Given the description of an element on the screen output the (x, y) to click on. 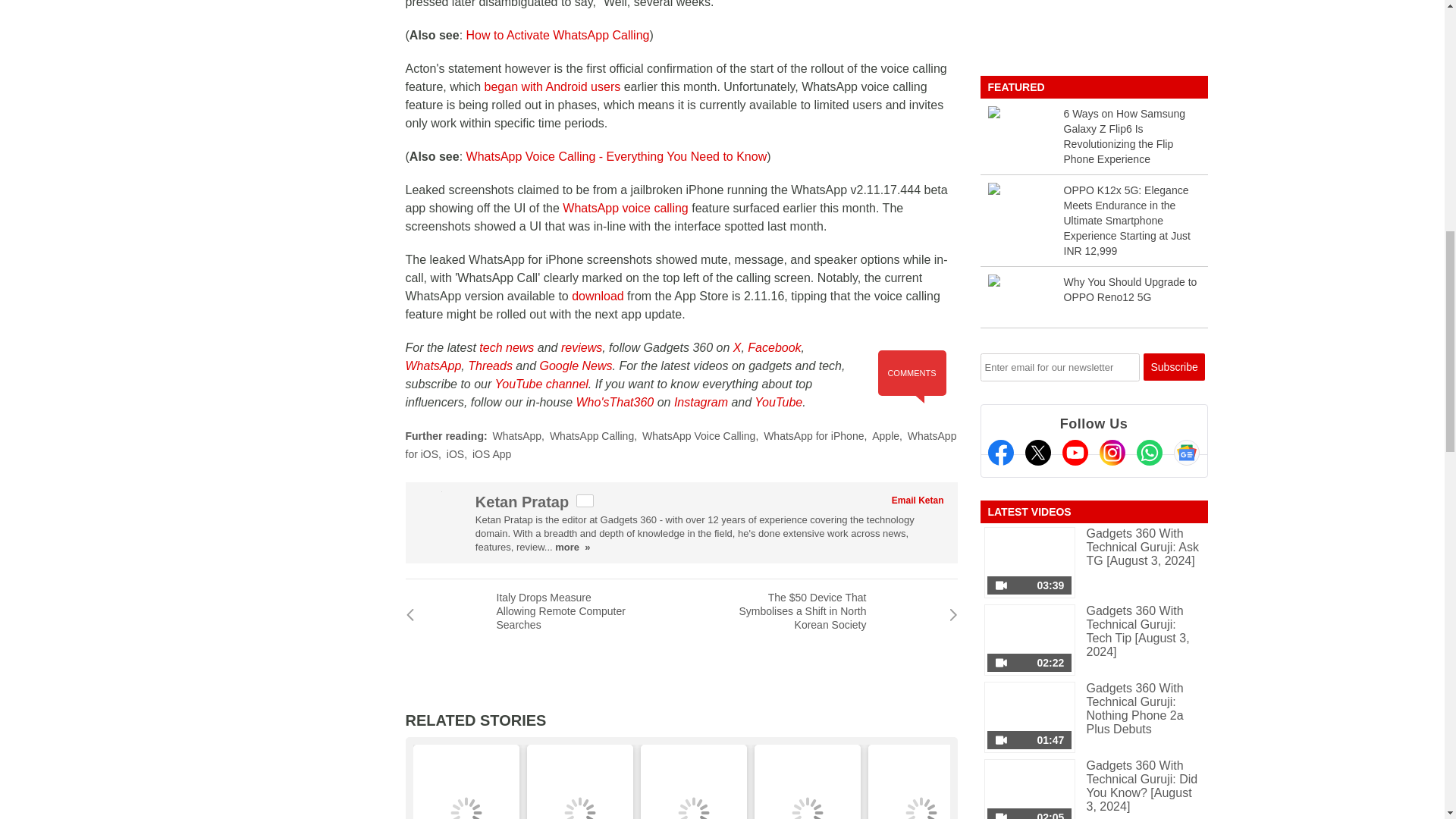
Subscribe (1173, 366)
